Given the description of an element on the screen output the (x, y) to click on. 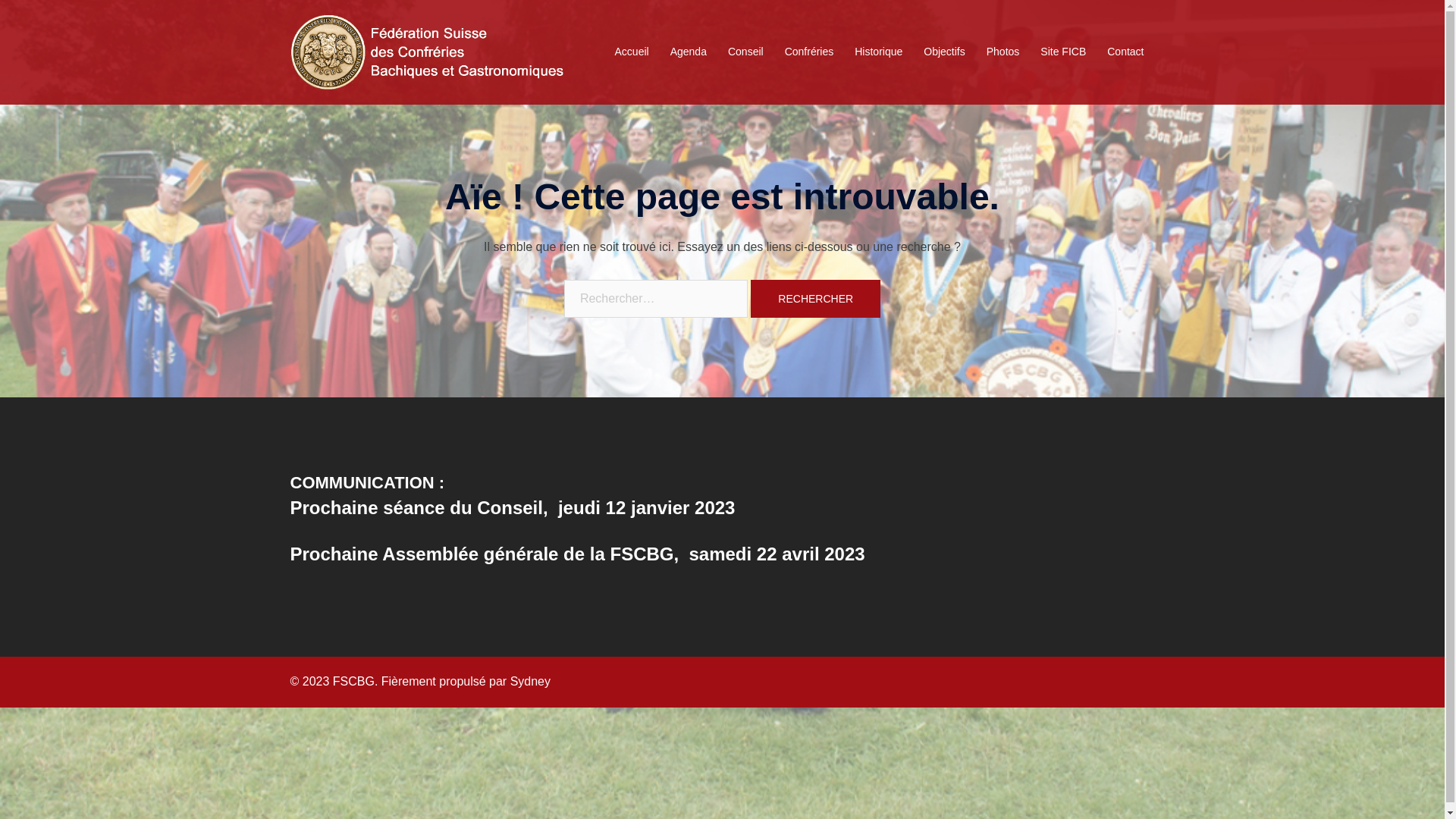
Conseil Element type: text (745, 52)
Sydney Element type: text (530, 680)
Objectifs Element type: text (943, 52)
FSCBG Element type: hover (425, 50)
Site FICB Element type: text (1062, 52)
Historique Element type: text (878, 52)
Accueil Element type: text (632, 52)
Rechercher Element type: text (815, 298)
Contact Element type: text (1125, 52)
Agenda Element type: text (688, 52)
Photos Element type: text (1002, 52)
